Given the description of an element on the screen output the (x, y) to click on. 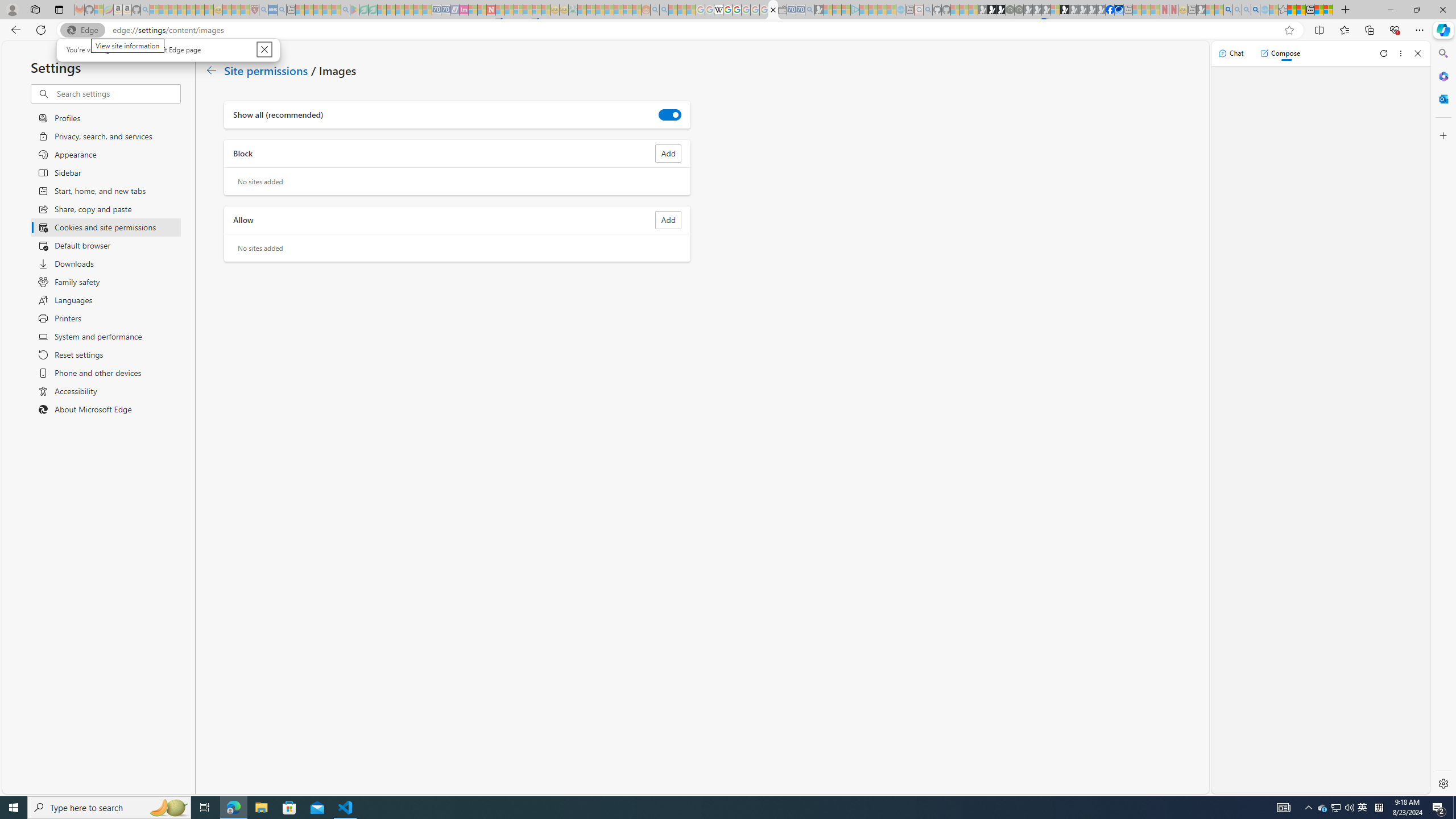
Notification Chevron (1308, 807)
Add site to Allow list (668, 220)
